Given the description of an element on the screen output the (x, y) to click on. 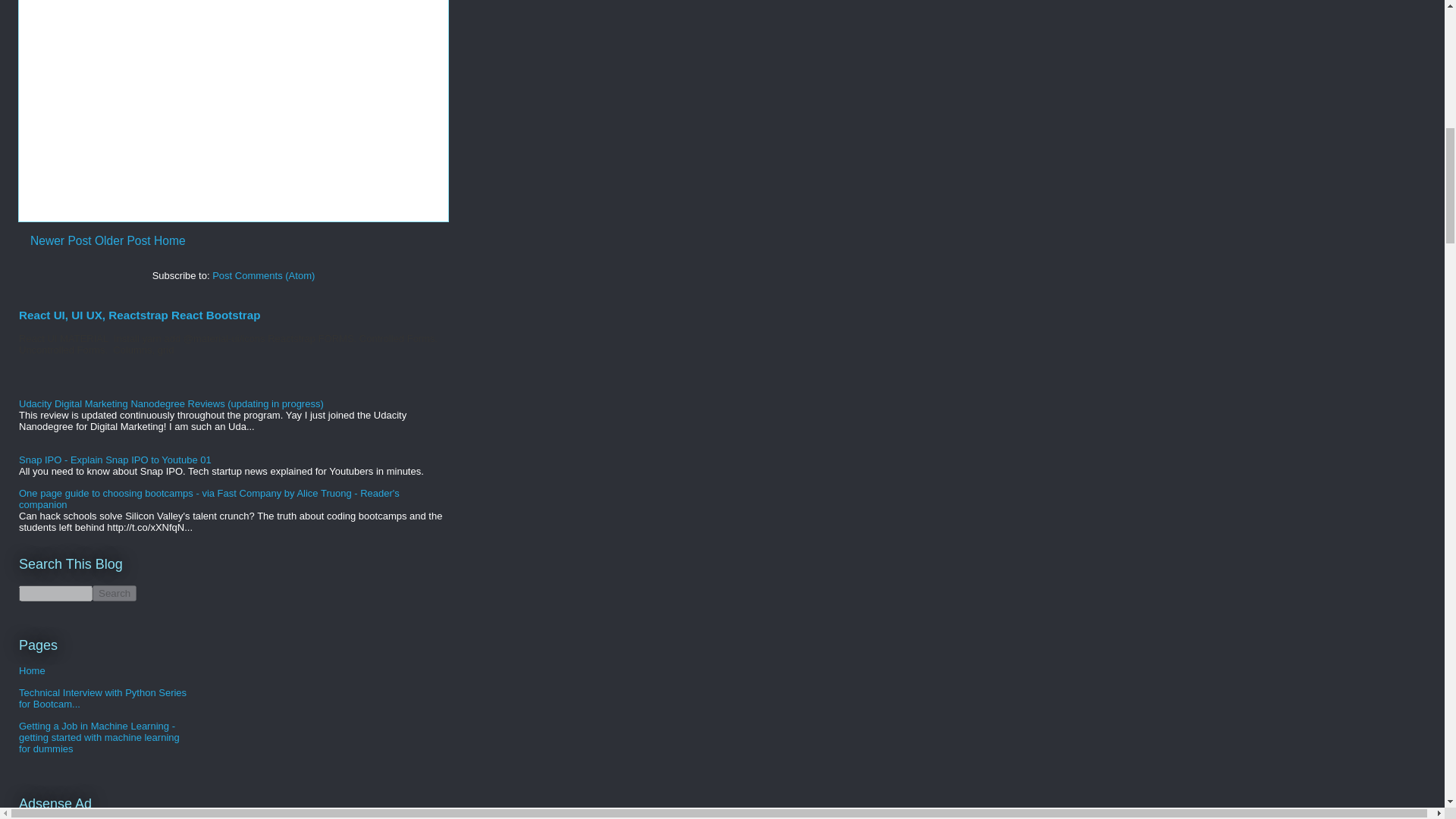
Older Post (122, 240)
Newer Post (60, 240)
search (114, 593)
Snap IPO - Explain Snap IPO to Youtube 01 (114, 459)
React UI, UI UX, Reactstrap React Bootstrap (139, 314)
Home (31, 670)
search (55, 593)
Search (114, 593)
Newer Post (60, 240)
Older Post (122, 240)
Technical Interview with Python Series for Bootcam... (102, 698)
Search (114, 593)
Home (170, 240)
